Given the description of an element on the screen output the (x, y) to click on. 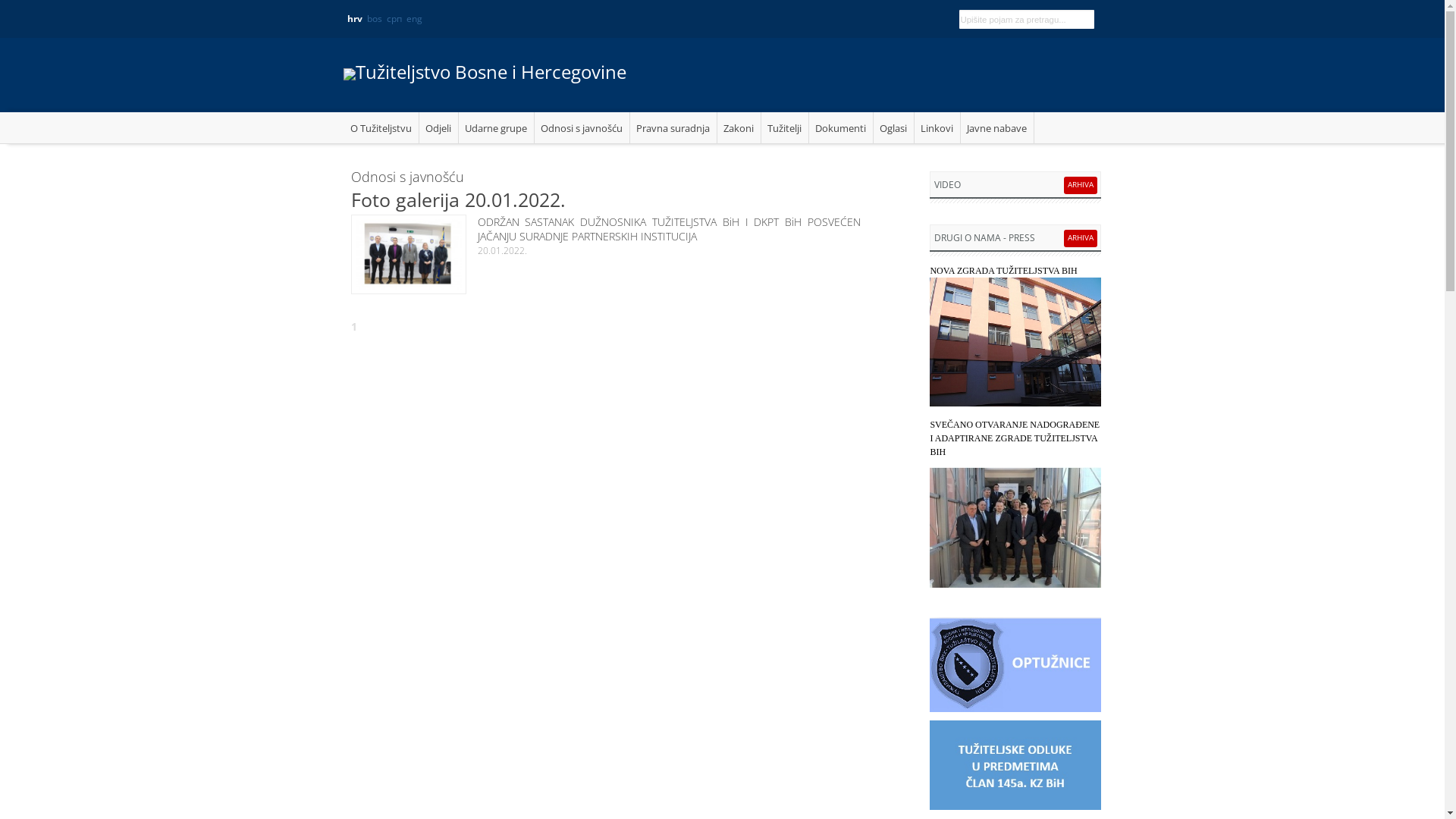
Linkovi Element type: text (937, 127)
bos Element type: text (374, 18)
Odjeli Element type: text (438, 127)
Oglasi Element type: text (893, 127)
Zakoni Element type: text (739, 127)
ARHIVA Element type: text (1080, 237)
Pravna suradnja Element type: text (672, 127)
eng Element type: text (414, 18)
svecano otvaranje Element type: hover (1015, 526)
ARHIVA Element type: text (1080, 183)
Javne nabave Element type: text (996, 127)
Udarne grupe Element type: text (495, 127)
Dokumenti Element type: text (840, 127)
